Given the description of an element on the screen output the (x, y) to click on. 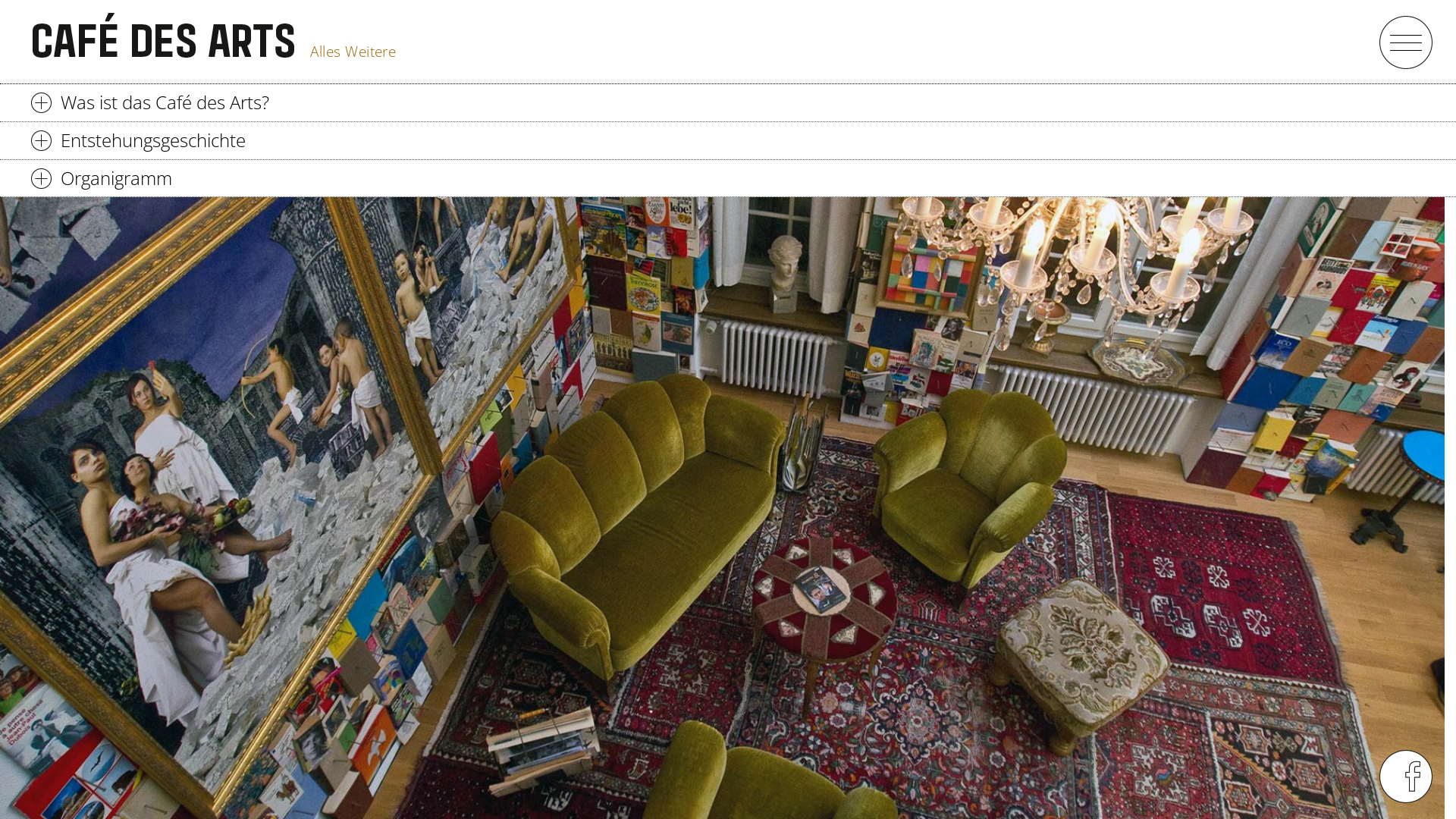
menu Element type: text (1405, 776)
menu Element type: text (1405, 42)
